Given the description of an element on the screen output the (x, y) to click on. 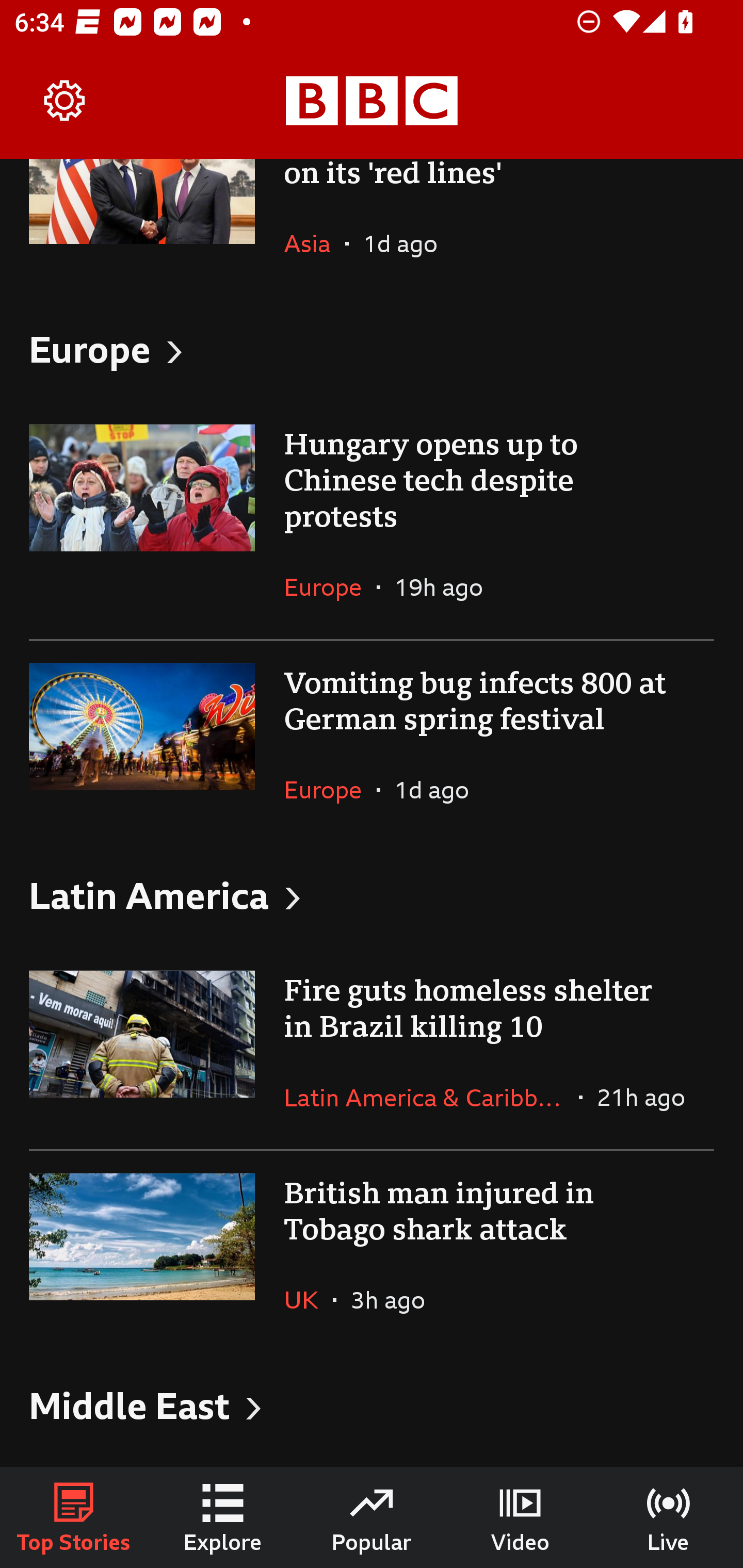
Settings (64, 100)
Asia In the section Asia (314, 242)
Europe, Heading Europe    (371, 348)
Europe In the section Europe (329, 586)
Europe In the section Europe (329, 789)
Latin America, Heading Latin America    (371, 895)
UK In the section UK (307, 1299)
Middle East, Heading Middle East    (371, 1404)
Explore (222, 1517)
Popular (371, 1517)
Video (519, 1517)
Live (668, 1517)
